Given the description of an element on the screen output the (x, y) to click on. 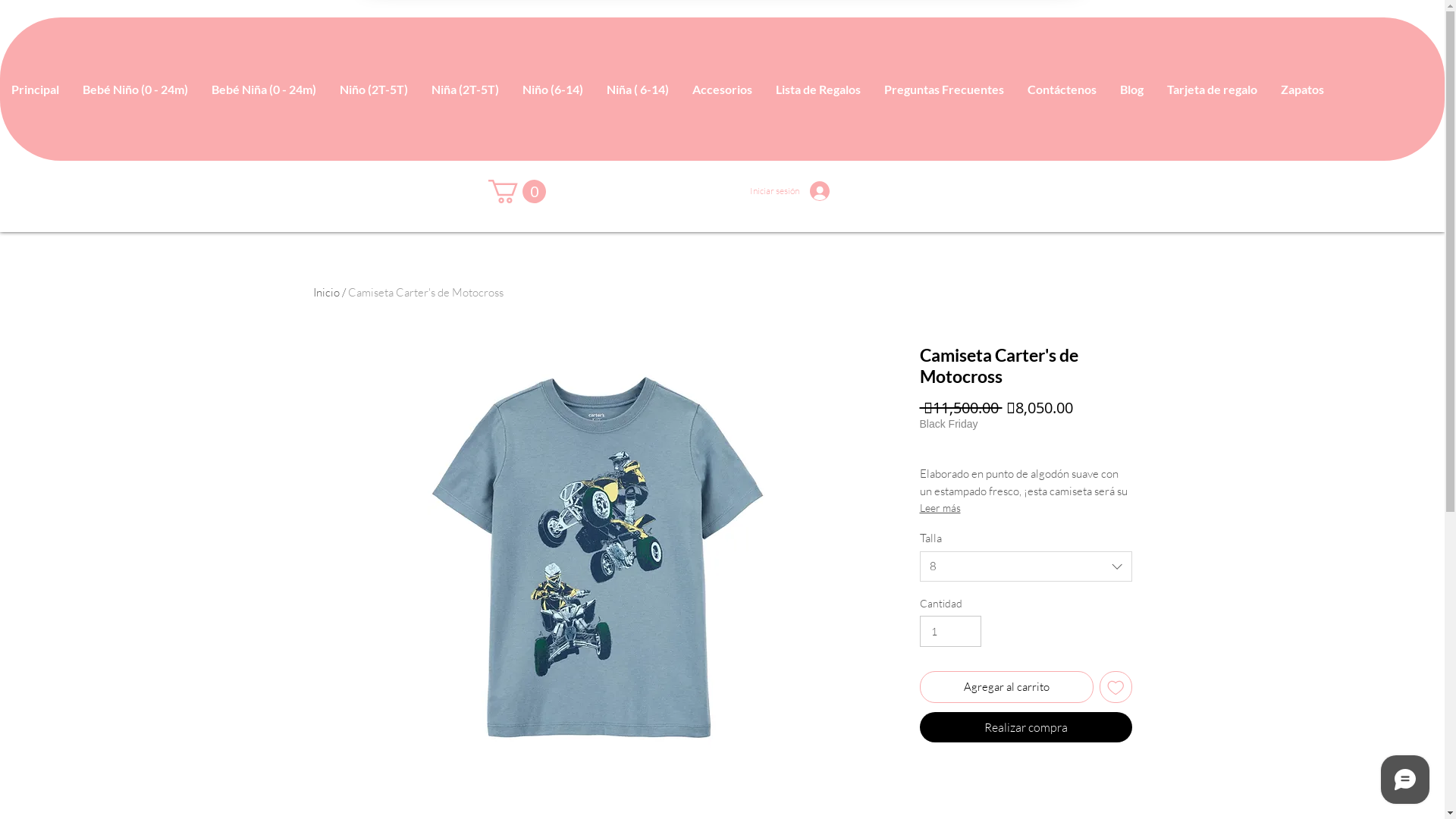
Blog Element type: text (1130, 88)
Tarjeta de regalo Element type: text (1211, 88)
Realizar compra Element type: text (1025, 727)
Accesorios Element type: text (721, 88)
Preguntas Frecuentes Element type: text (943, 88)
Zapatos Element type: text (1301, 88)
Camiseta Carter's de Motocross Element type: text (424, 292)
Agregar al carrito Element type: text (1006, 687)
Principal Element type: text (35, 88)
8 Element type: text (1025, 566)
Inicio Element type: text (325, 292)
Lista de Regalos Element type: text (817, 88)
0 Element type: text (517, 191)
